Given the description of an element on the screen output the (x, y) to click on. 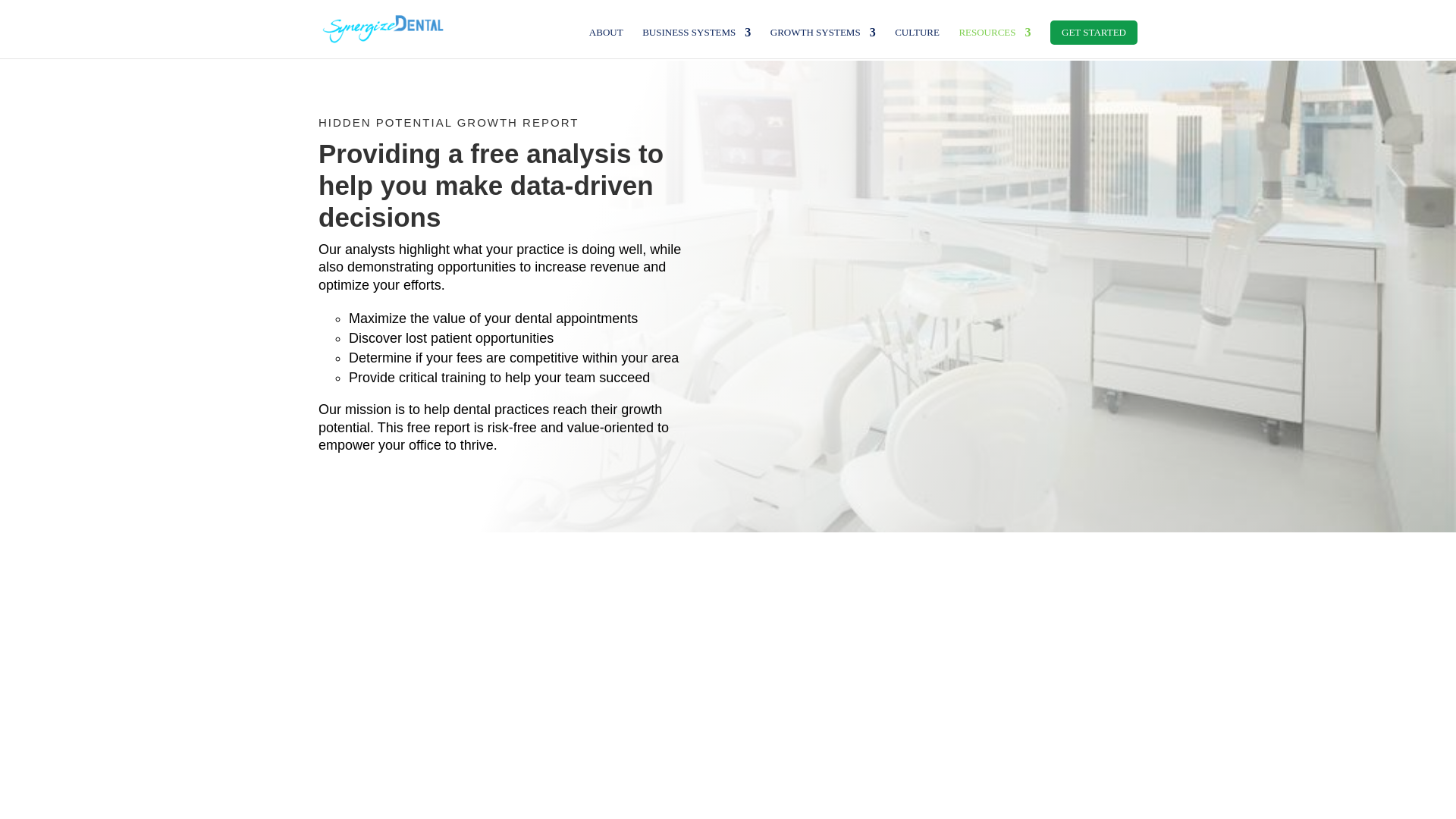
CULTURE (917, 42)
ABOUT (606, 42)
GROWTH SYSTEMS (823, 42)
GET STARTED (1093, 32)
RESOURCES (994, 42)
BUSINESS SYSTEMS (696, 42)
